Given the description of an element on the screen output the (x, y) to click on. 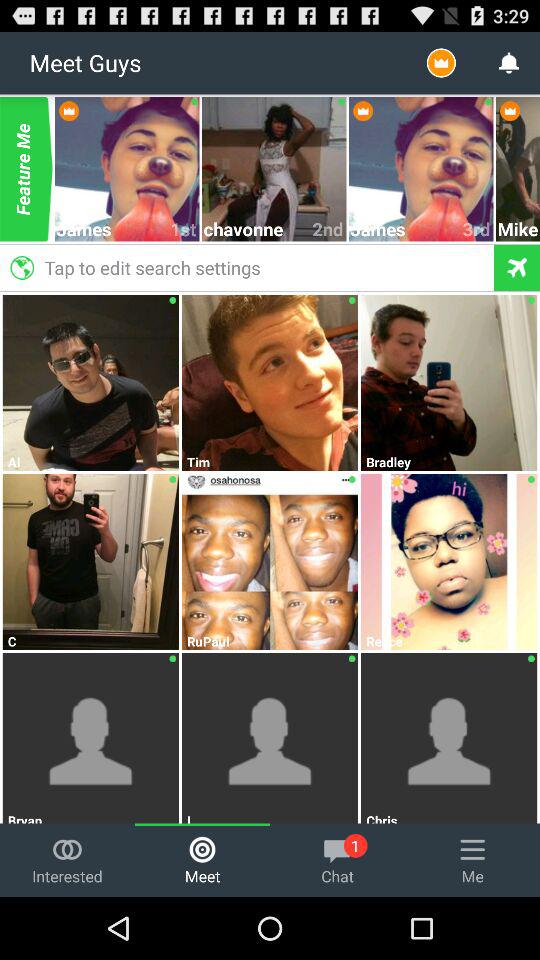
press the icon below tap to edit item (270, 290)
